Given the description of an element on the screen output the (x, y) to click on. 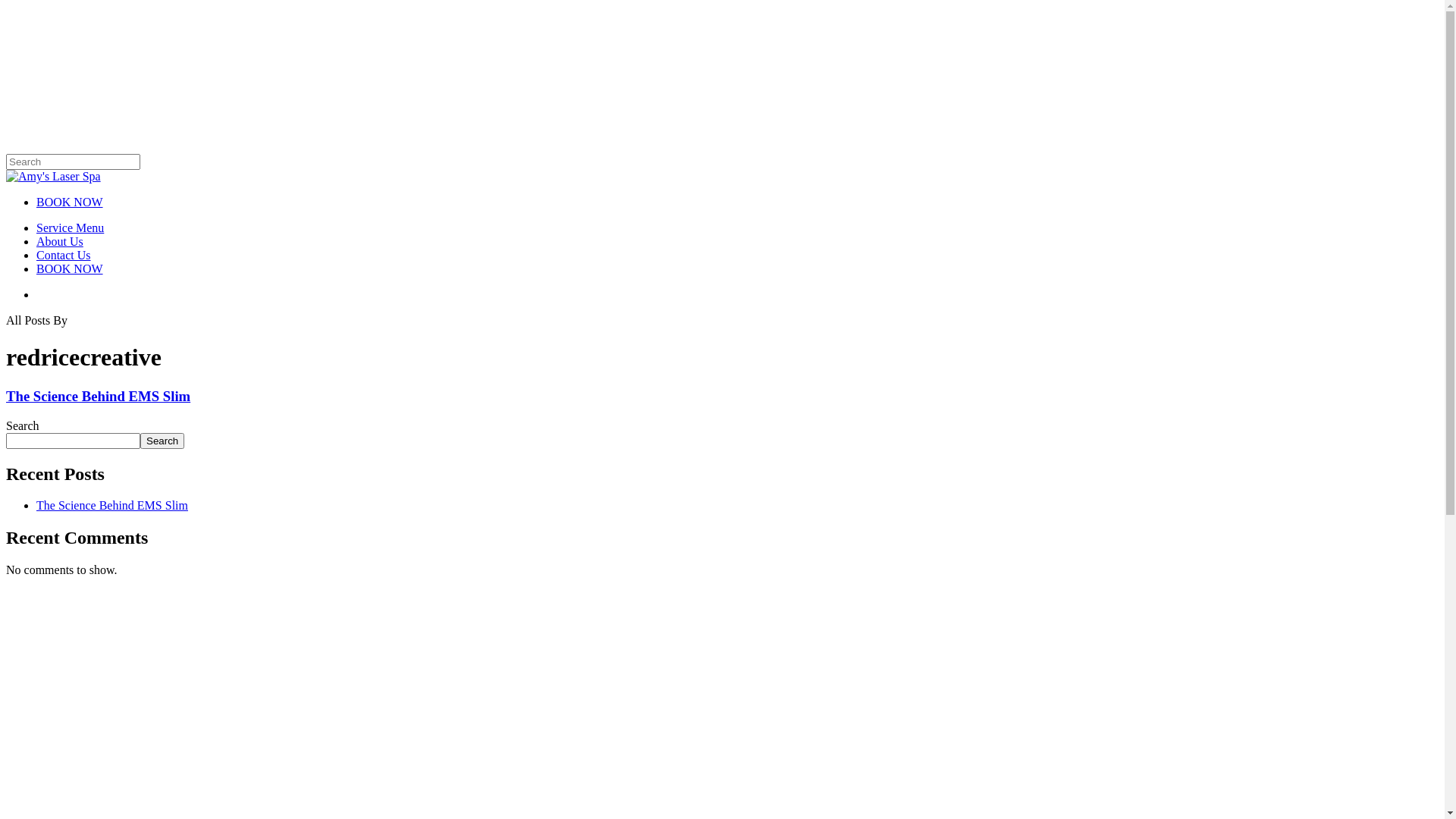
Contact Us Element type: text (63, 254)
Skip to main content Element type: text (5, 5)
BOOK NOW Element type: text (69, 268)
BOOK NOW Element type: text (69, 201)
The Science Behind EMS Slim Element type: text (98, 396)
About Us Element type: text (59, 241)
The Science Behind EMS Slim Element type: text (112, 504)
Service Menu Element type: text (69, 227)
Search Element type: text (162, 440)
